Given the description of an element on the screen output the (x, y) to click on. 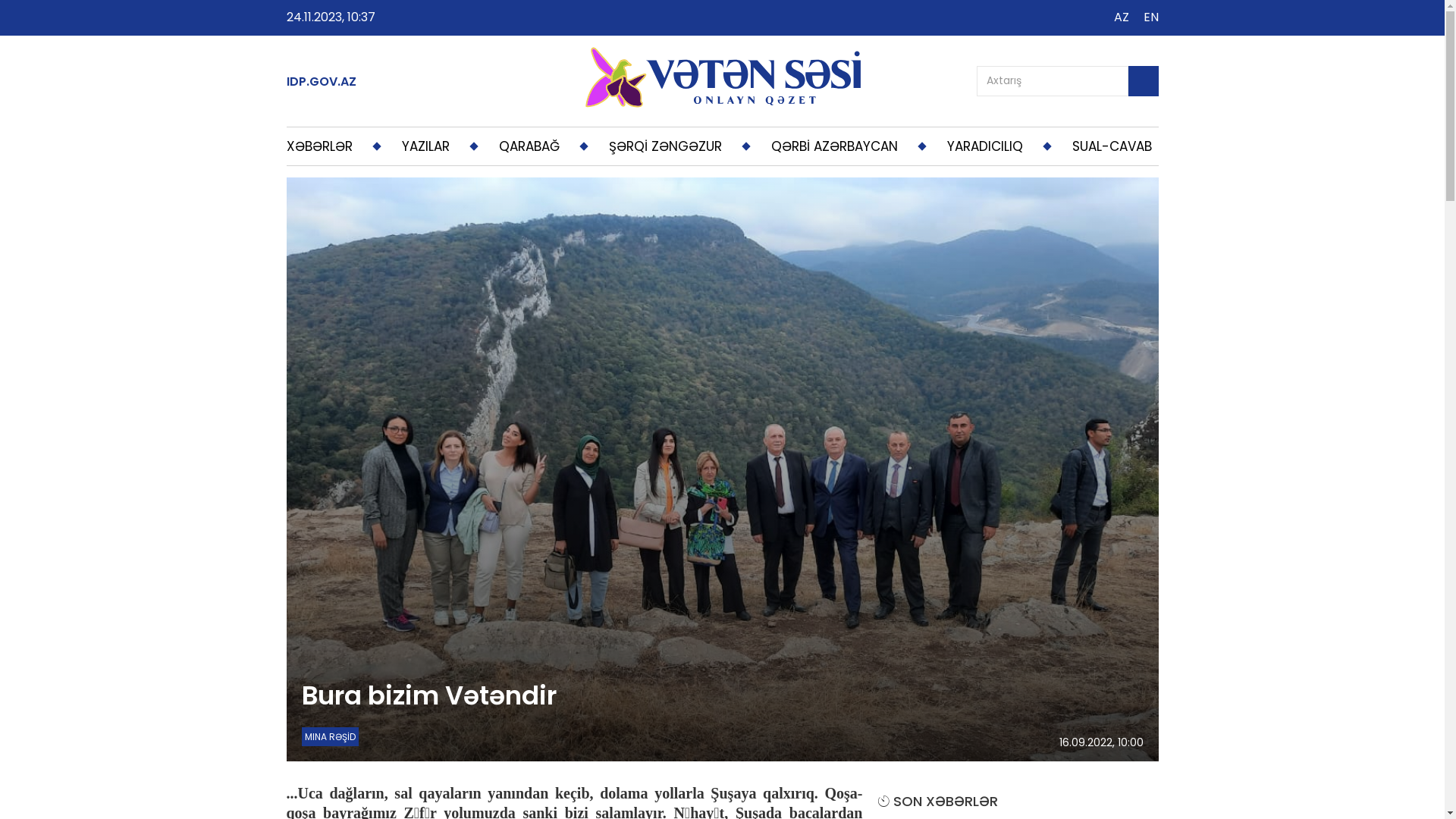
EN Element type: text (1150, 16)
AZ Element type: text (1120, 16)
IDP.GOV.AZ Element type: text (321, 82)
YARADICILIQ Element type: text (984, 146)
SUAL-CAVAB Element type: text (1111, 146)
YAZILAR Element type: text (425, 146)
